Given the description of an element on the screen output the (x, y) to click on. 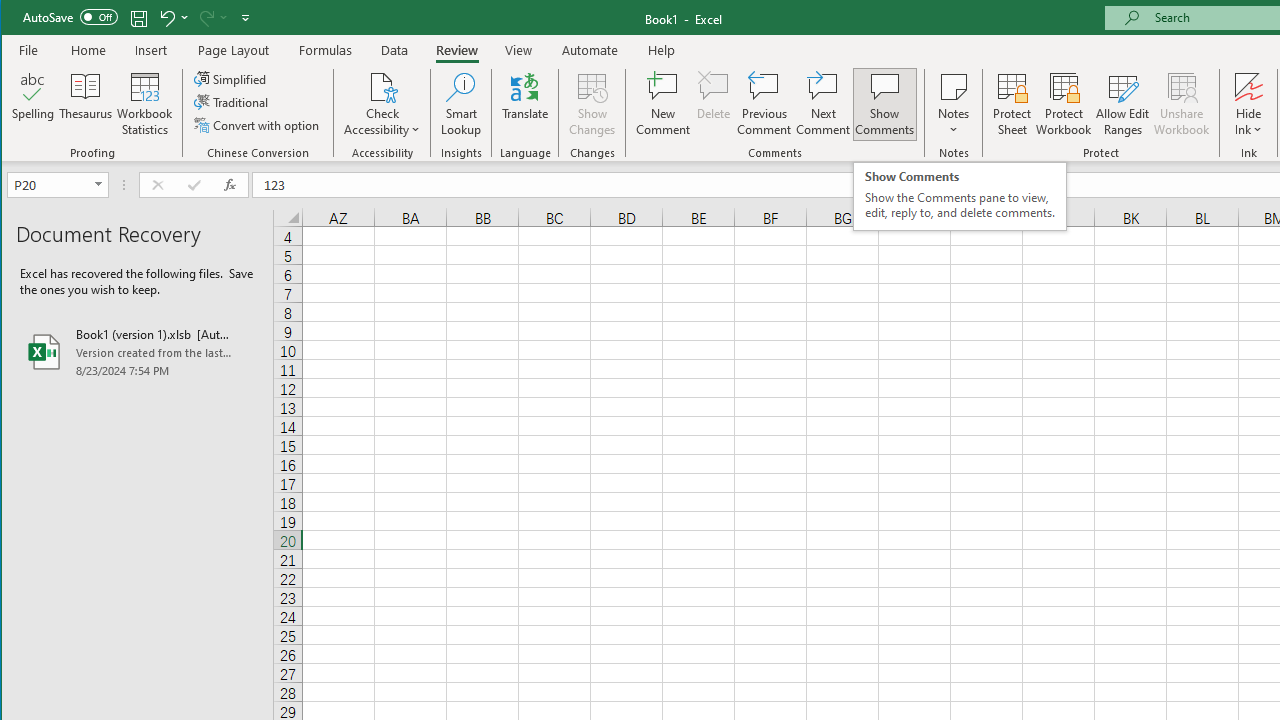
Delete (713, 104)
Workbook Statistics (145, 104)
Simplified (231, 78)
Translate (525, 104)
Protect Workbook... (1064, 104)
